Given the description of an element on the screen output the (x, y) to click on. 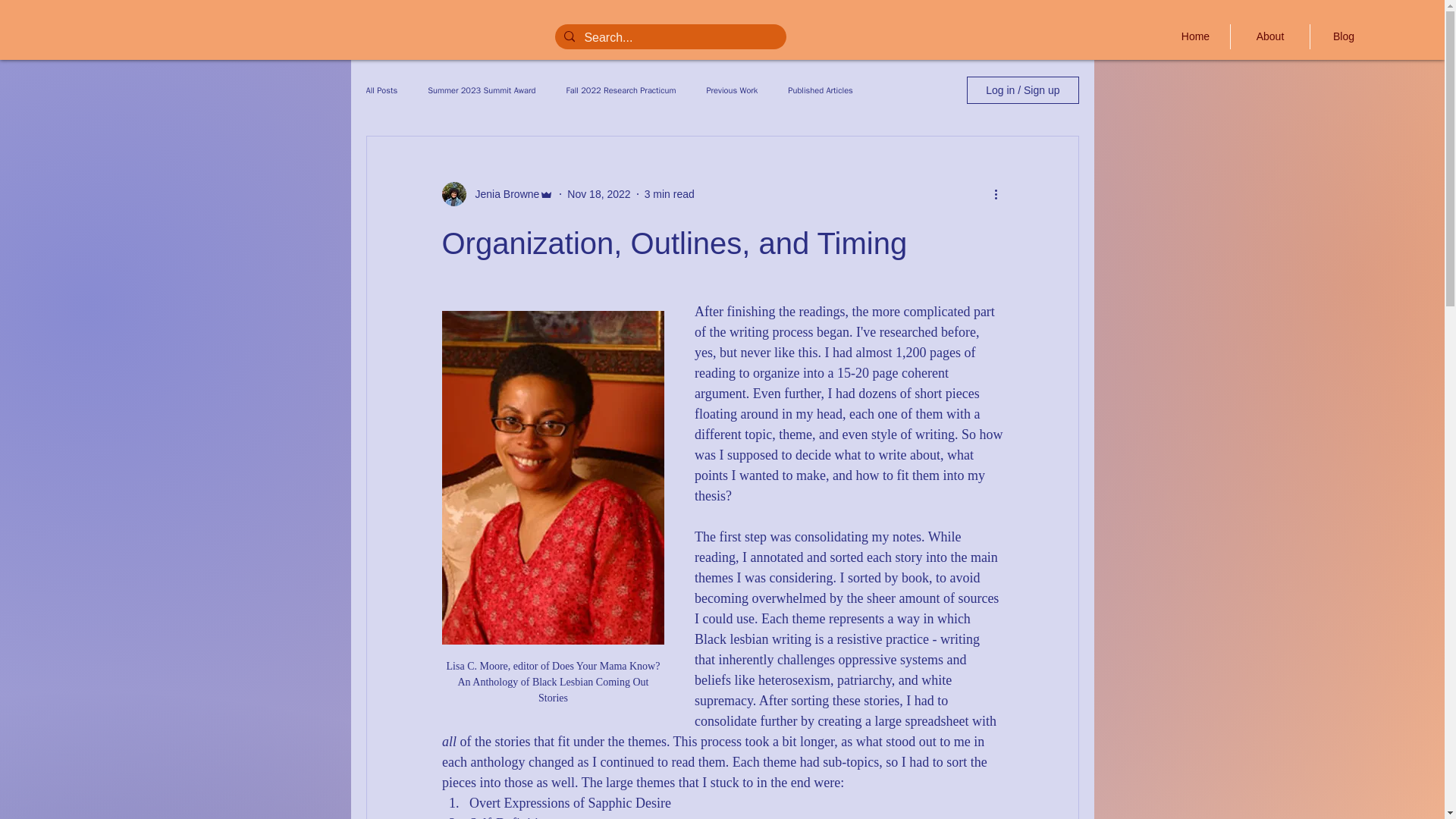
Previous Work (731, 90)
Summer 2023 Summit Award (481, 90)
Blog (1343, 36)
Nov 18, 2022 (598, 193)
Home (1195, 36)
3 min read (669, 193)
Published Articles (819, 90)
All Posts (381, 90)
About (1269, 36)
Fall 2022 Research Practicum (620, 90)
